Given the description of an element on the screen output the (x, y) to click on. 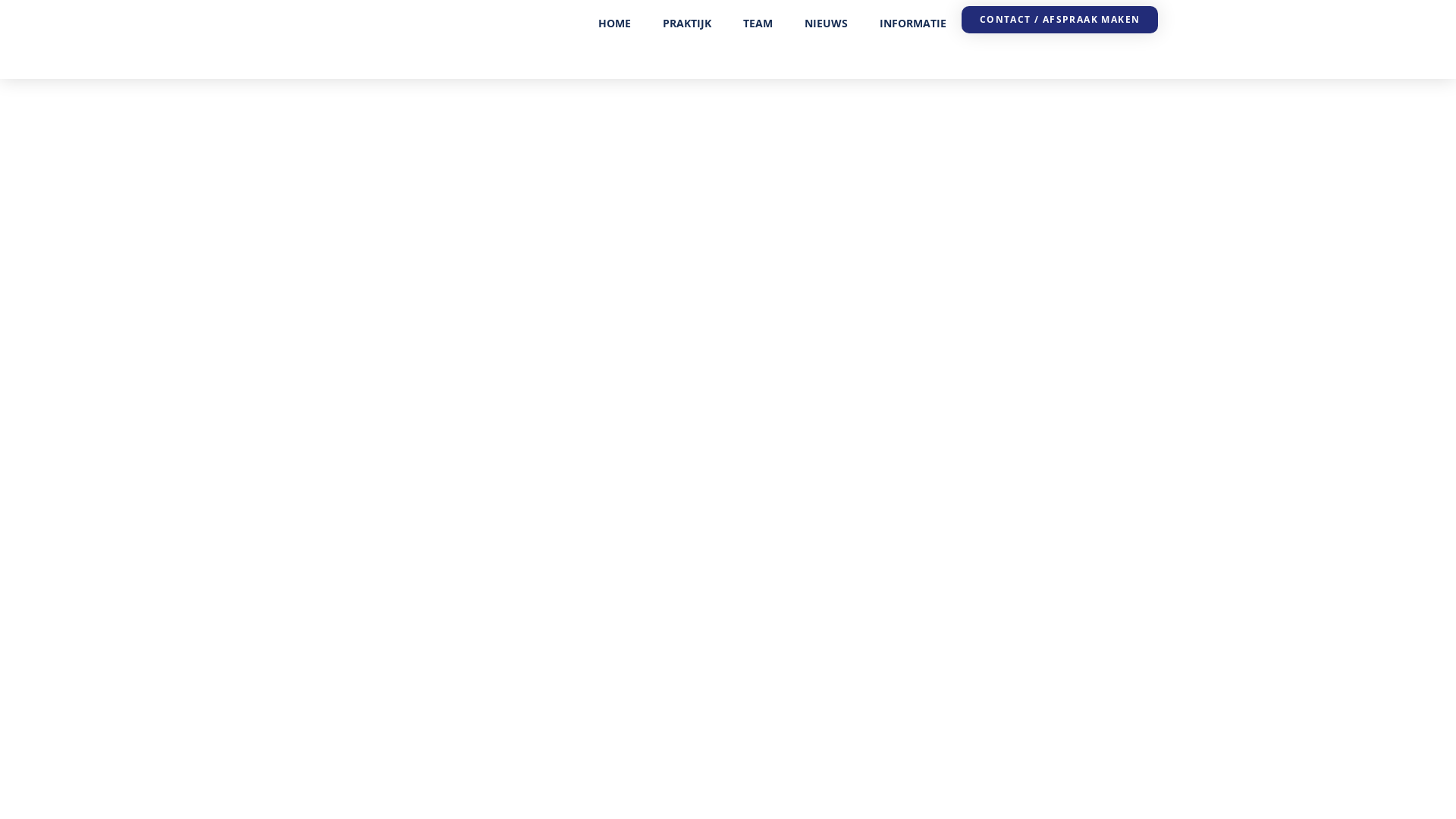
CONTACT / AFSPRAAK MAKEN Element type: text (1059, 19)
INFORMATIE Element type: text (912, 23)
NIEUWS Element type: text (825, 23)
HOME Element type: text (614, 23)
TEAM Element type: text (757, 23)
PRAKTIJK Element type: text (686, 23)
